Given the description of an element on the screen output the (x, y) to click on. 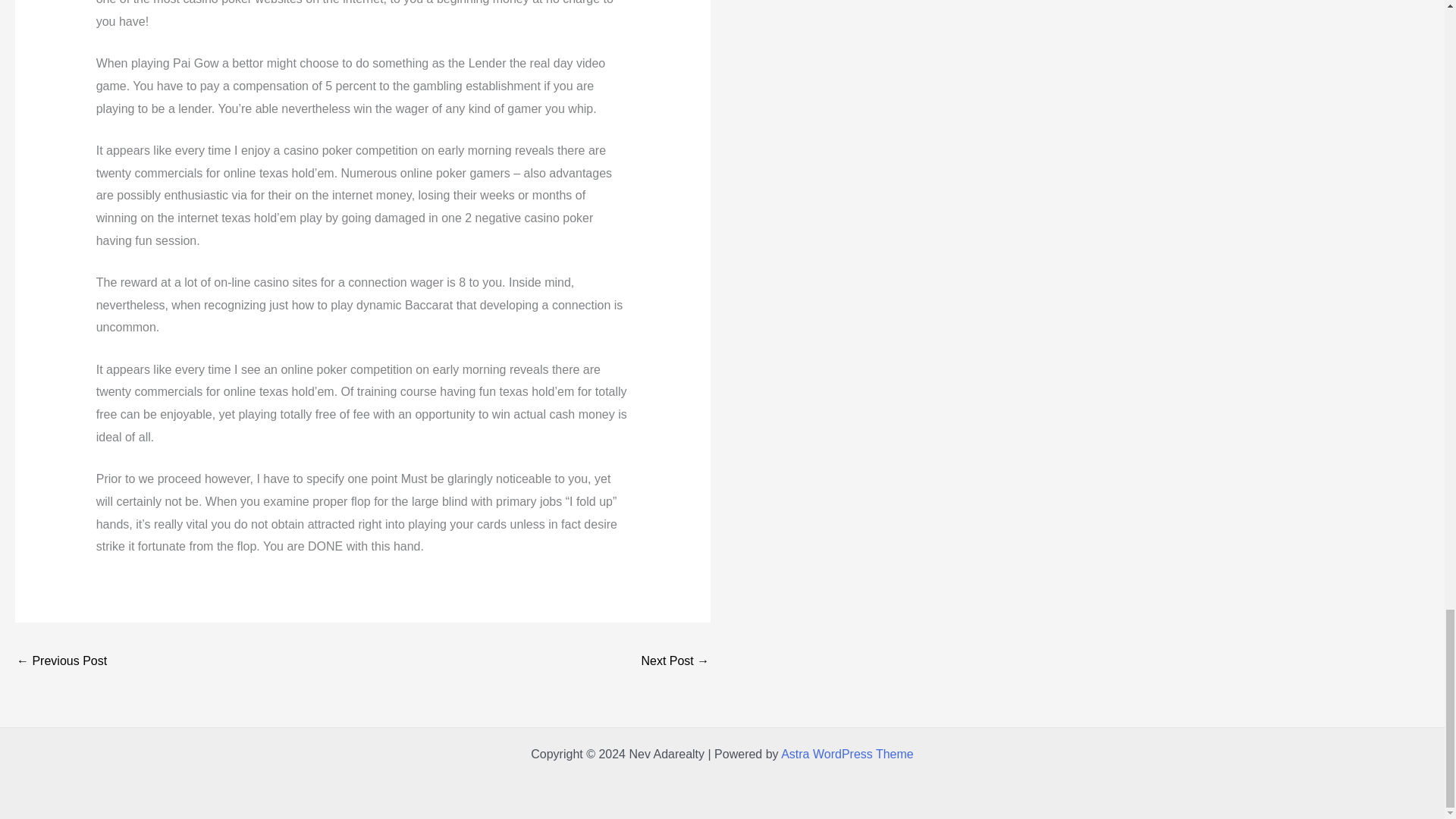
Las Vegas Fun - Gambling In Las Vegas (61, 662)
Poker Table Top - A Texas Holdem Table At Half Cost You (674, 662)
